Given the description of an element on the screen output the (x, y) to click on. 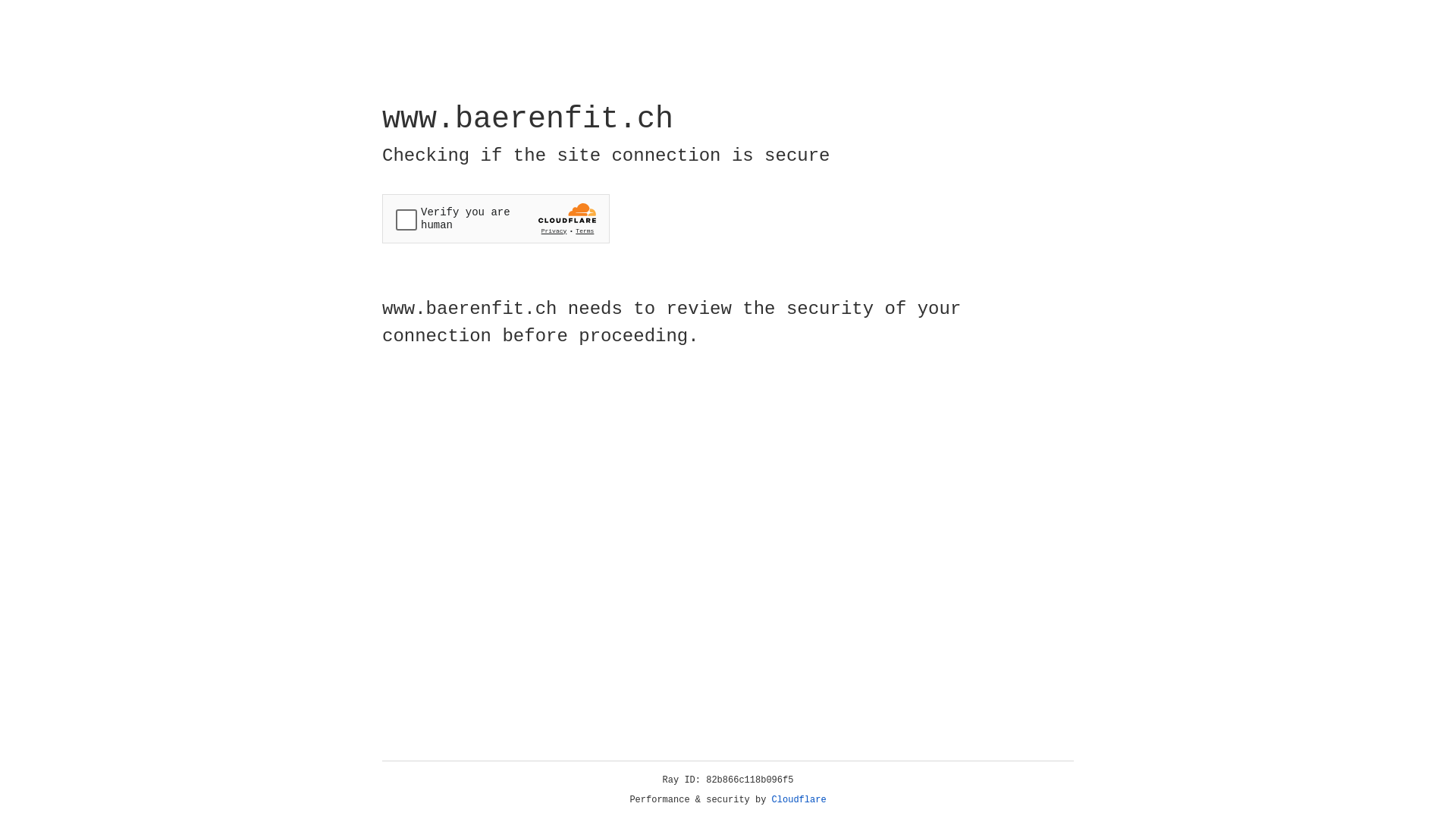
Cloudflare Element type: text (798, 799)
Widget containing a Cloudflare security challenge Element type: hover (495, 218)
